Given the description of an element on the screen output the (x, y) to click on. 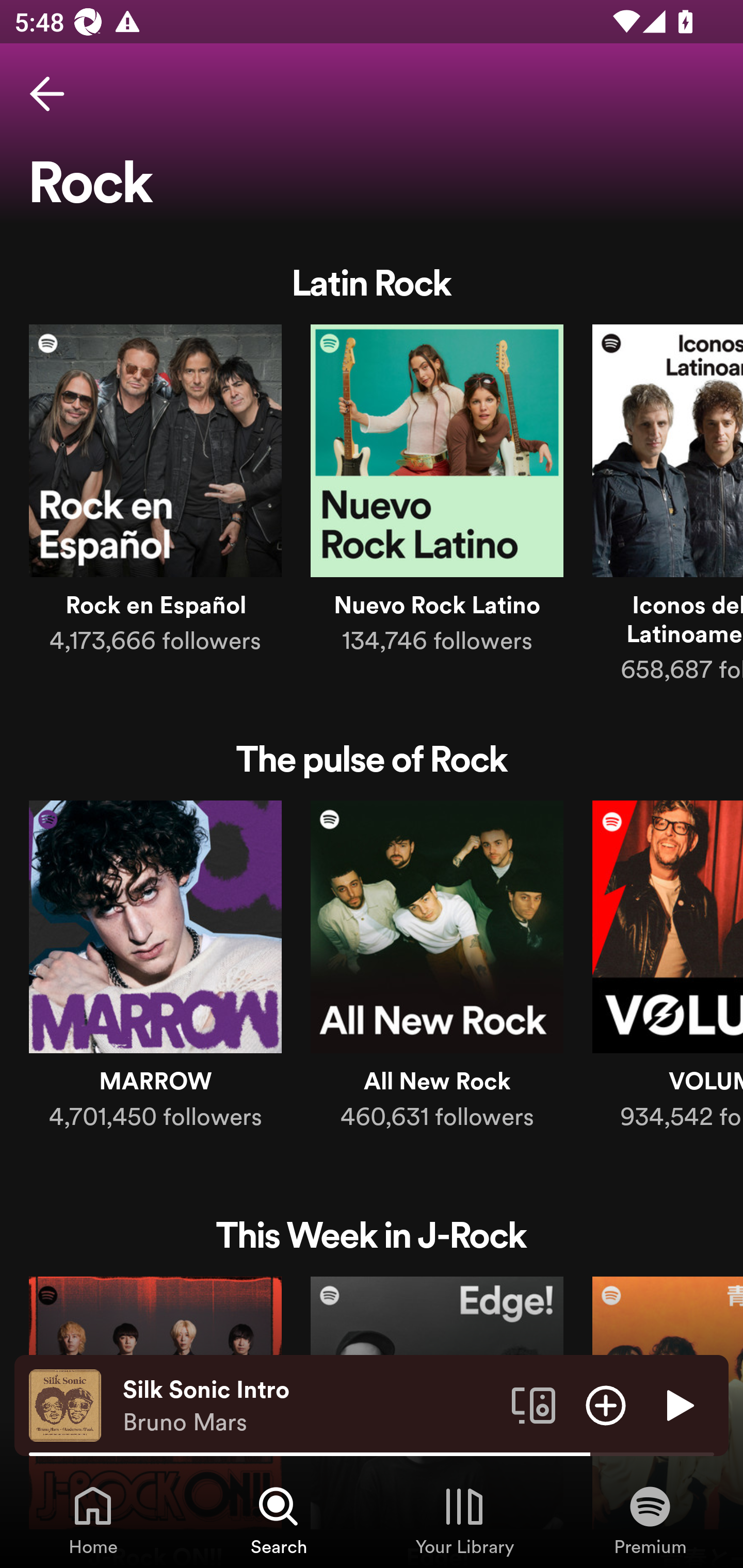
Back (46, 93)
VOLUME
934,542 followers VOLUME 934,542 followers (667, 969)
Silk Sonic Intro Bruno Mars (309, 1405)
The cover art of the currently playing track (64, 1404)
Connect to a device. Opens the devices menu (533, 1404)
Add item (605, 1404)
Play (677, 1404)
Home, Tab 1 of 4 Home Home (92, 1519)
Search, Tab 2 of 4 Search Search (278, 1519)
Your Library, Tab 3 of 4 Your Library Your Library (464, 1519)
Premium, Tab 4 of 4 Premium Premium (650, 1519)
